Given the description of an element on the screen output the (x, y) to click on. 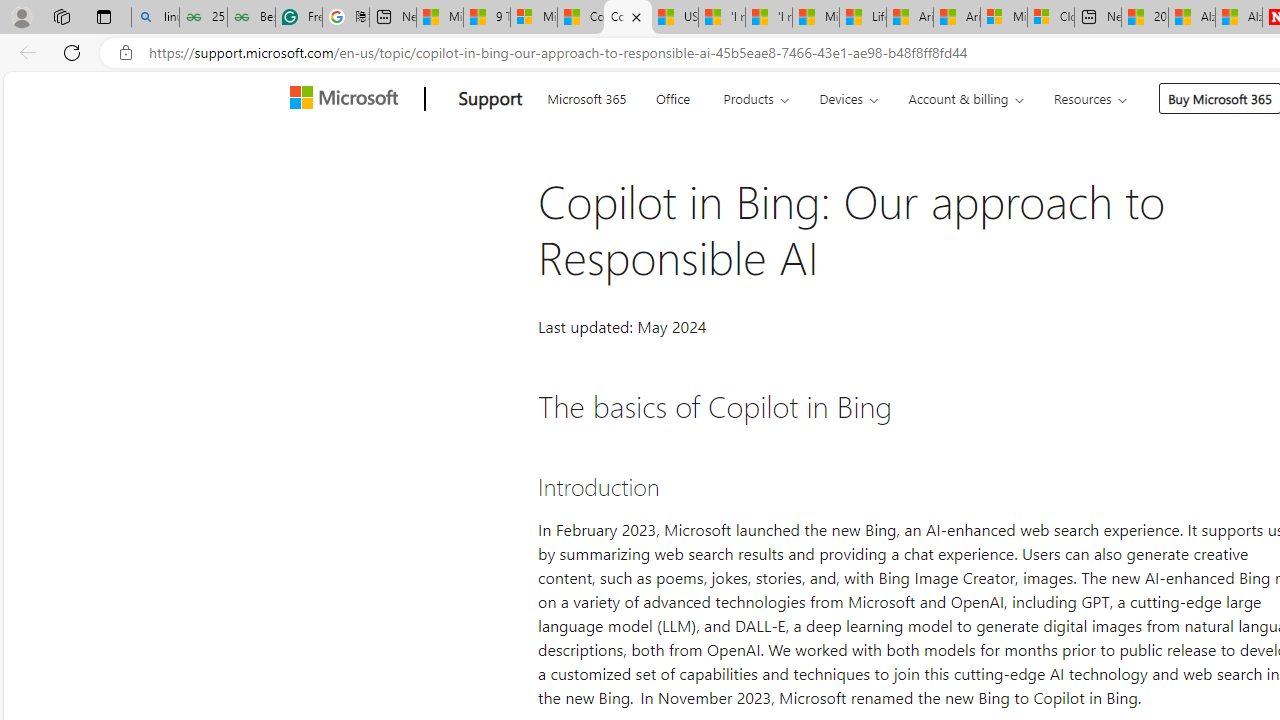
Best SSL Certificates Provider in India - GeeksforGeeks (251, 17)
Cloud Computing Services | Microsoft Azure (1050, 17)
Office (672, 96)
Microsoft (348, 99)
Free AI Writing Assistance for Students | Grammarly (299, 17)
